Given the description of an element on the screen output the (x, y) to click on. 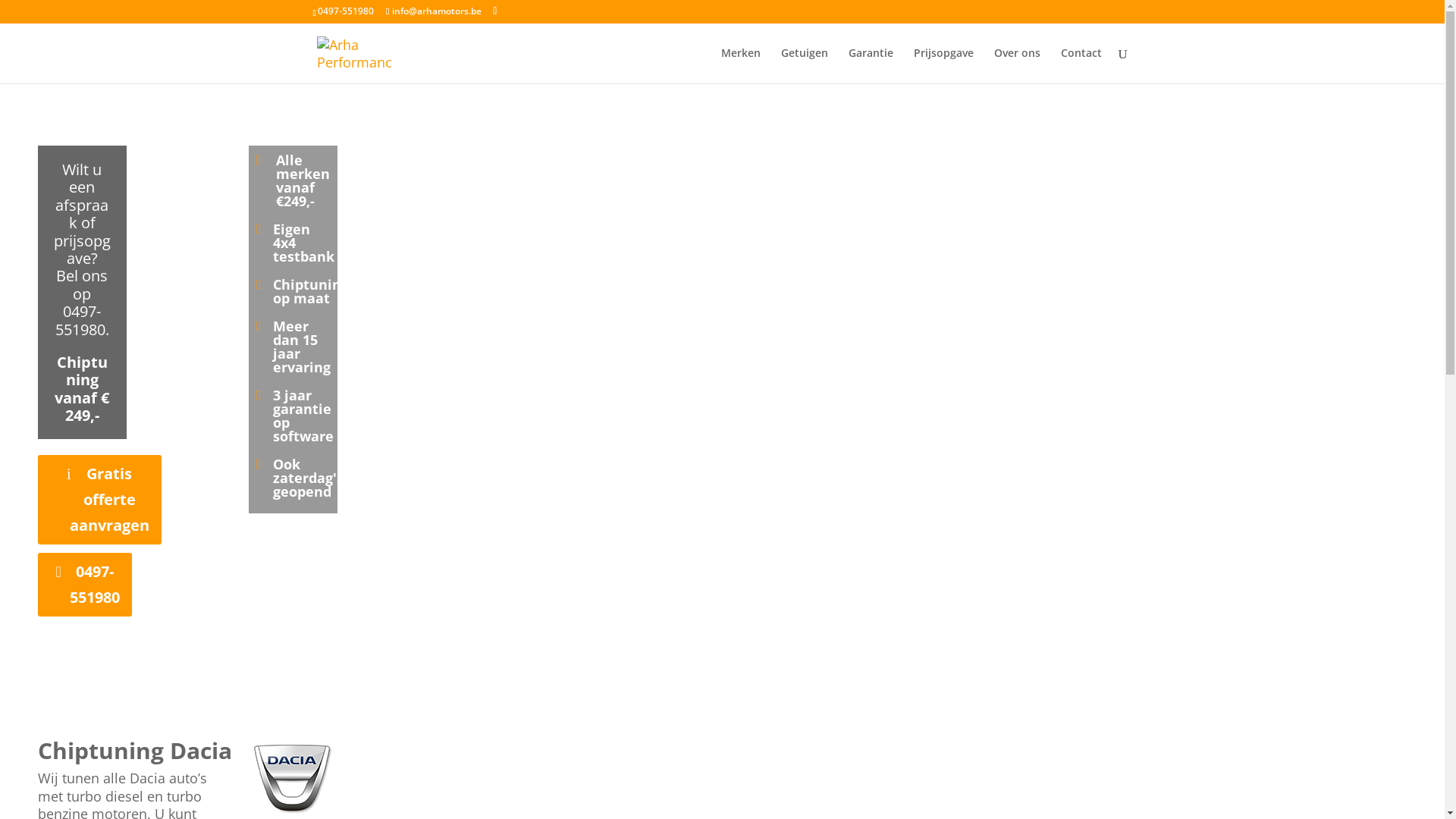
Contact Element type: text (1080, 65)
Merken Element type: text (739, 65)
Over ons Element type: text (1016, 65)
0497-551980 Element type: text (84, 584)
info@arhamotors.be Element type: text (433, 10)
Gratis offerte aanvragen Element type: text (99, 499)
Prijsopgave Element type: text (942, 65)
Garantie Element type: text (869, 65)
Getuigen Element type: text (804, 65)
